Given the description of an element on the screen output the (x, y) to click on. 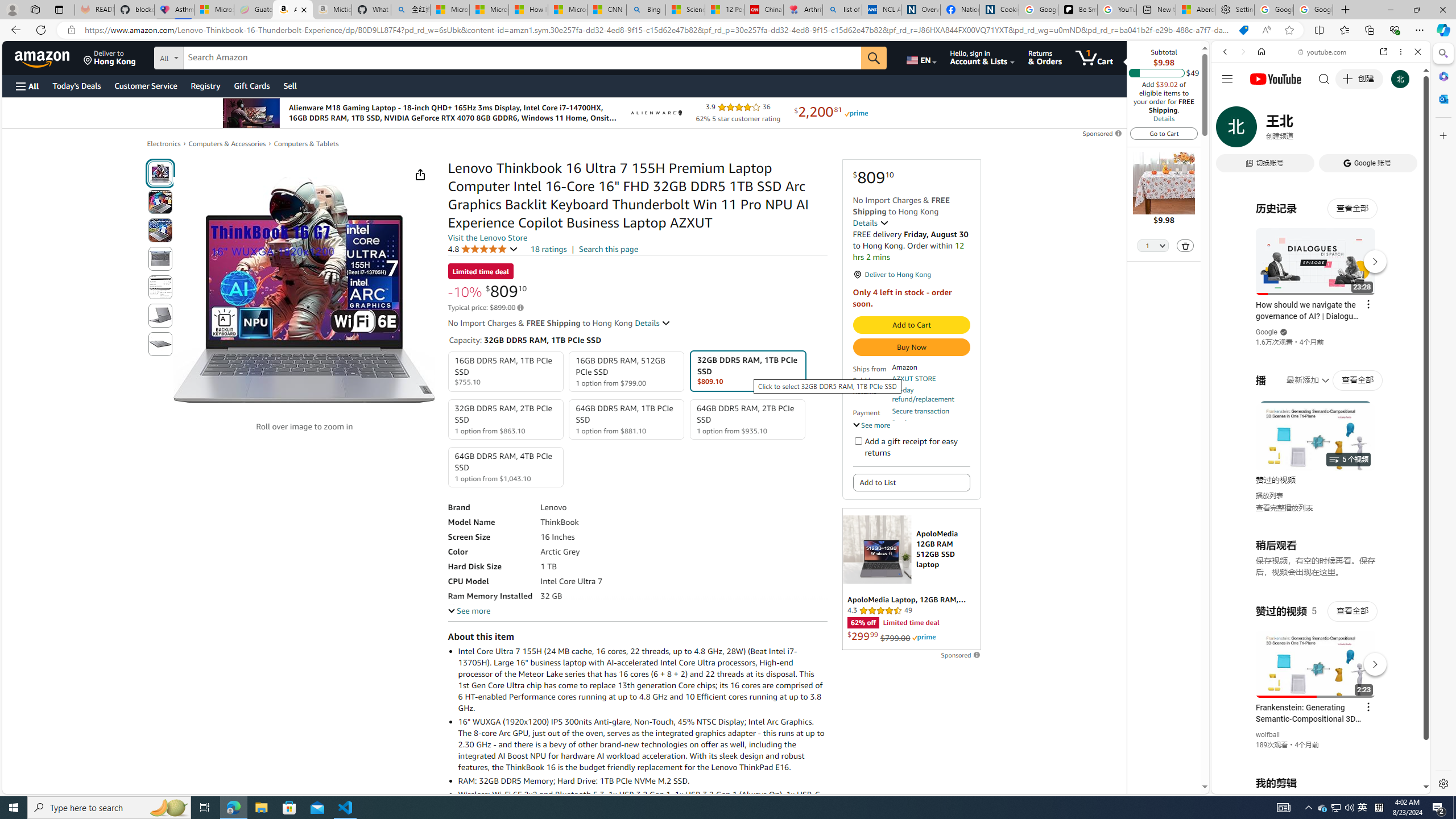
Click to scroll right (1407, 456)
YouTube (1315, 655)
Show More Music (1390, 310)
